Given the description of an element on the screen output the (x, y) to click on. 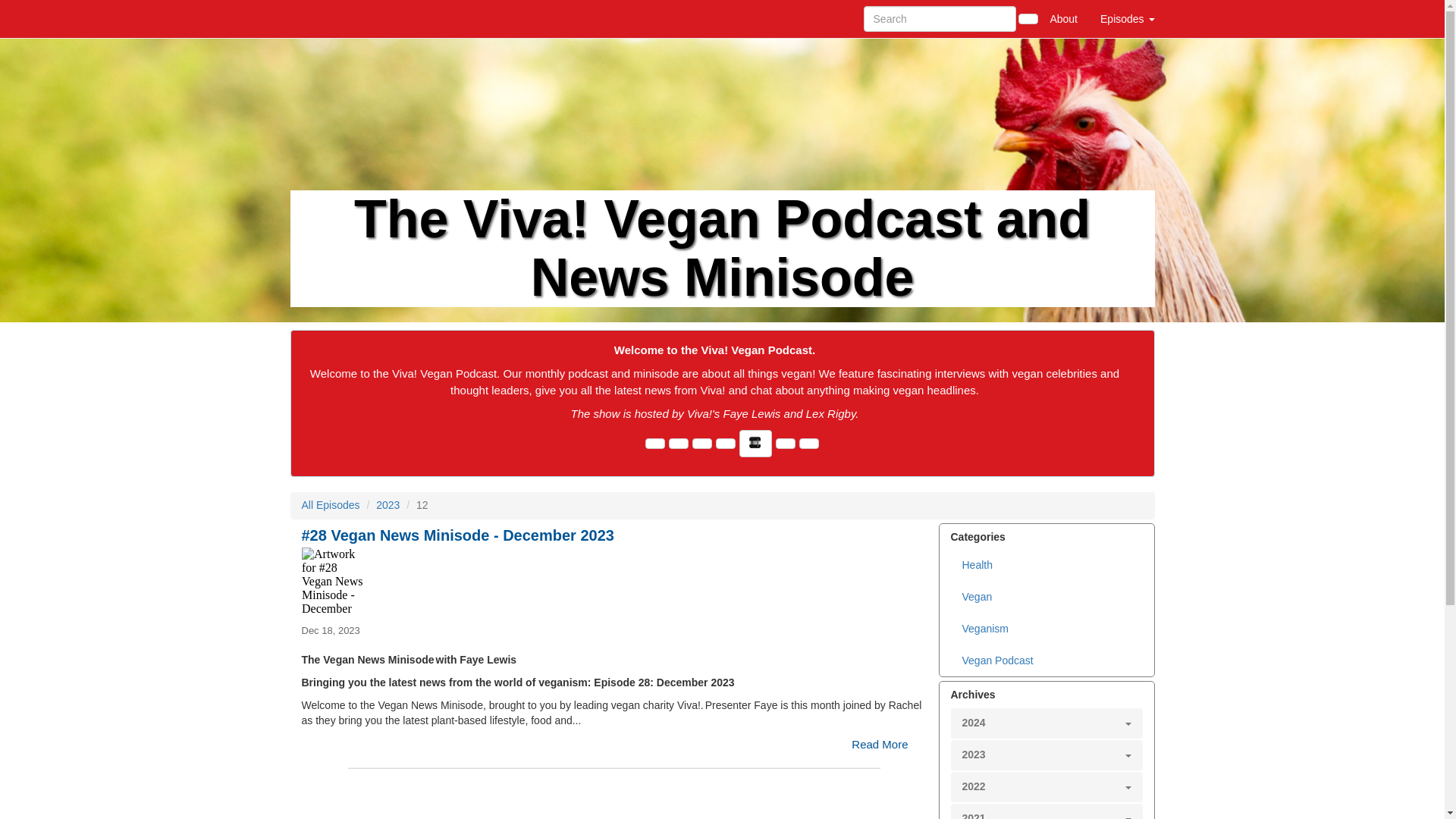
About (1063, 18)
Episodes (1127, 18)
Home Page (320, 18)
